Given the description of an element on the screen output the (x, y) to click on. 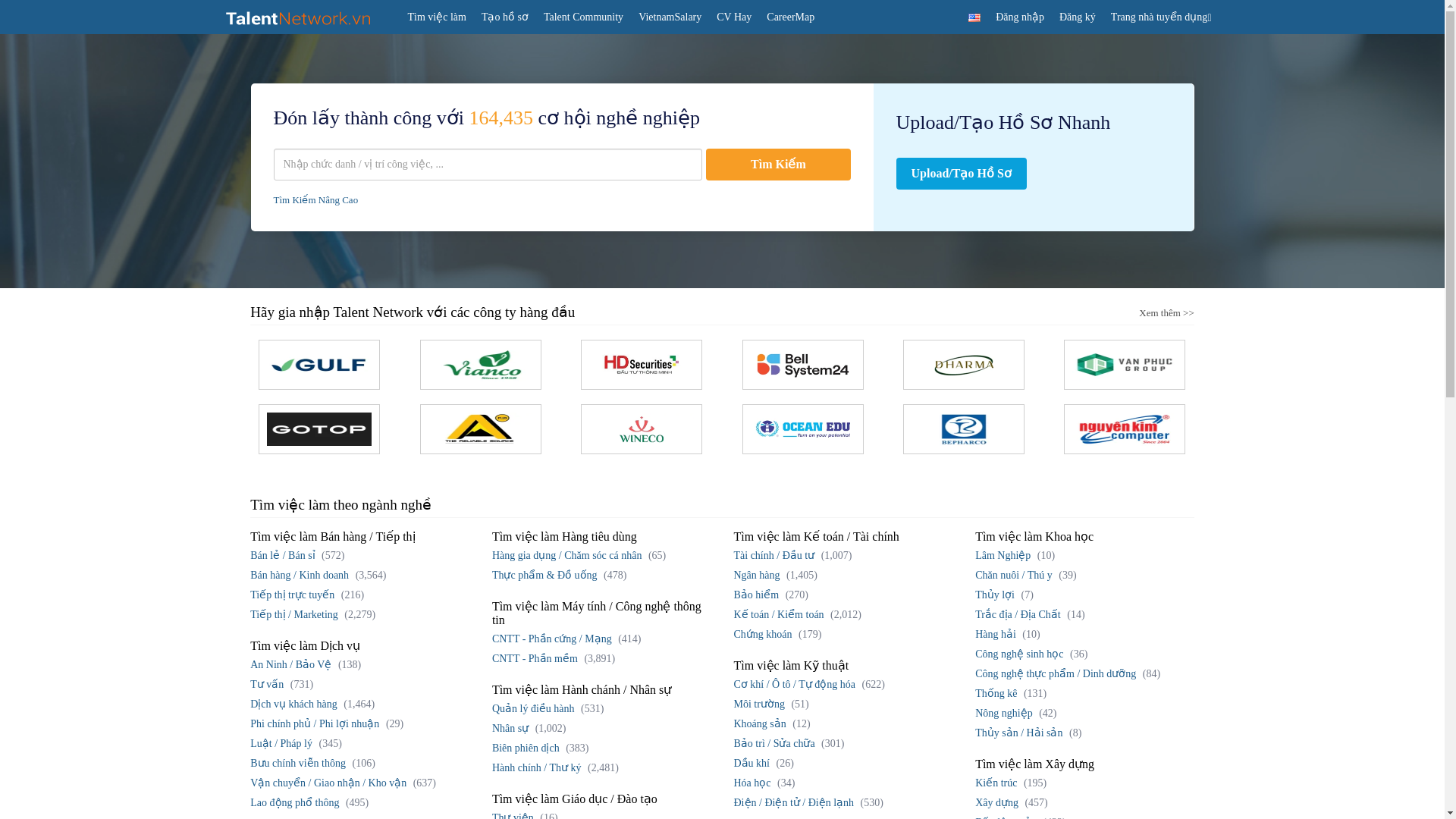
Talent Community (582, 17)
CareerMap (790, 17)
CV Hay (733, 17)
VietnamSalary (669, 17)
